Given the description of an element on the screen output the (x, y) to click on. 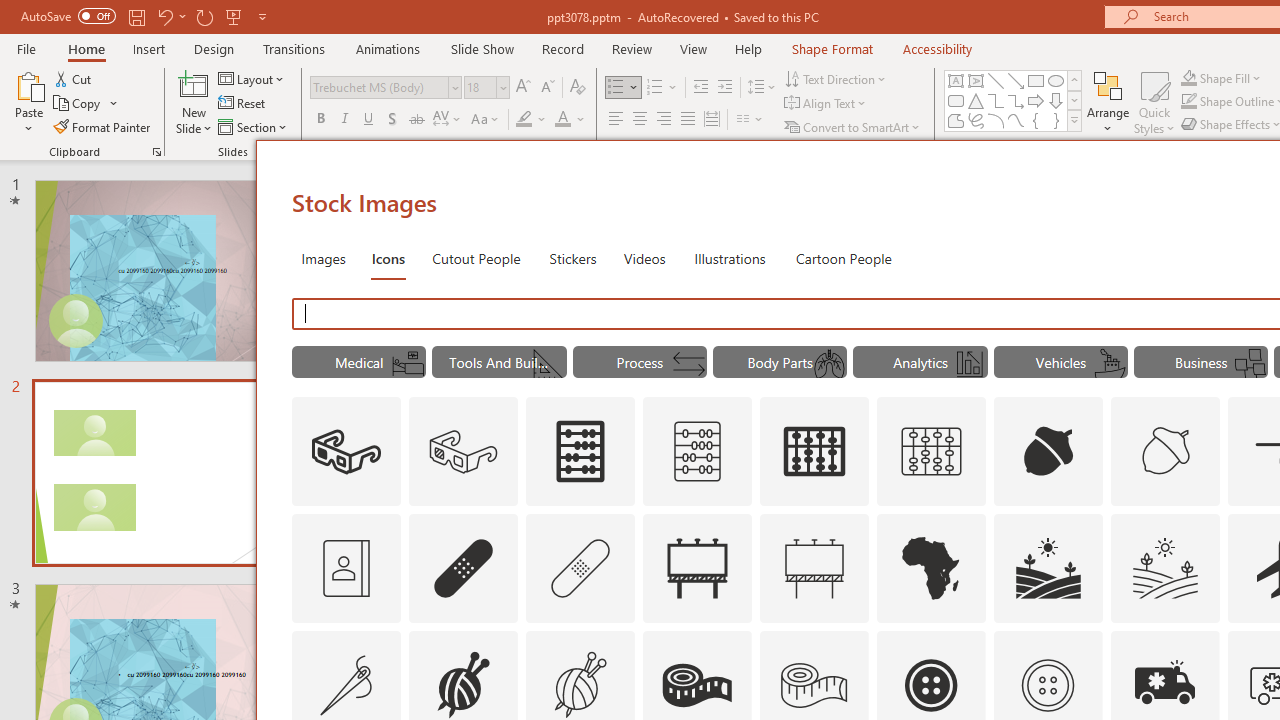
"Medical" Icons. (358, 362)
AutomationID: Icons_Lungs_M (829, 364)
AutomationID: Icons_AddressBook_RTL_M (346, 568)
AutomationID: Icons_AdhesiveBandage_M (580, 568)
